Given the description of an element on the screen output the (x, y) to click on. 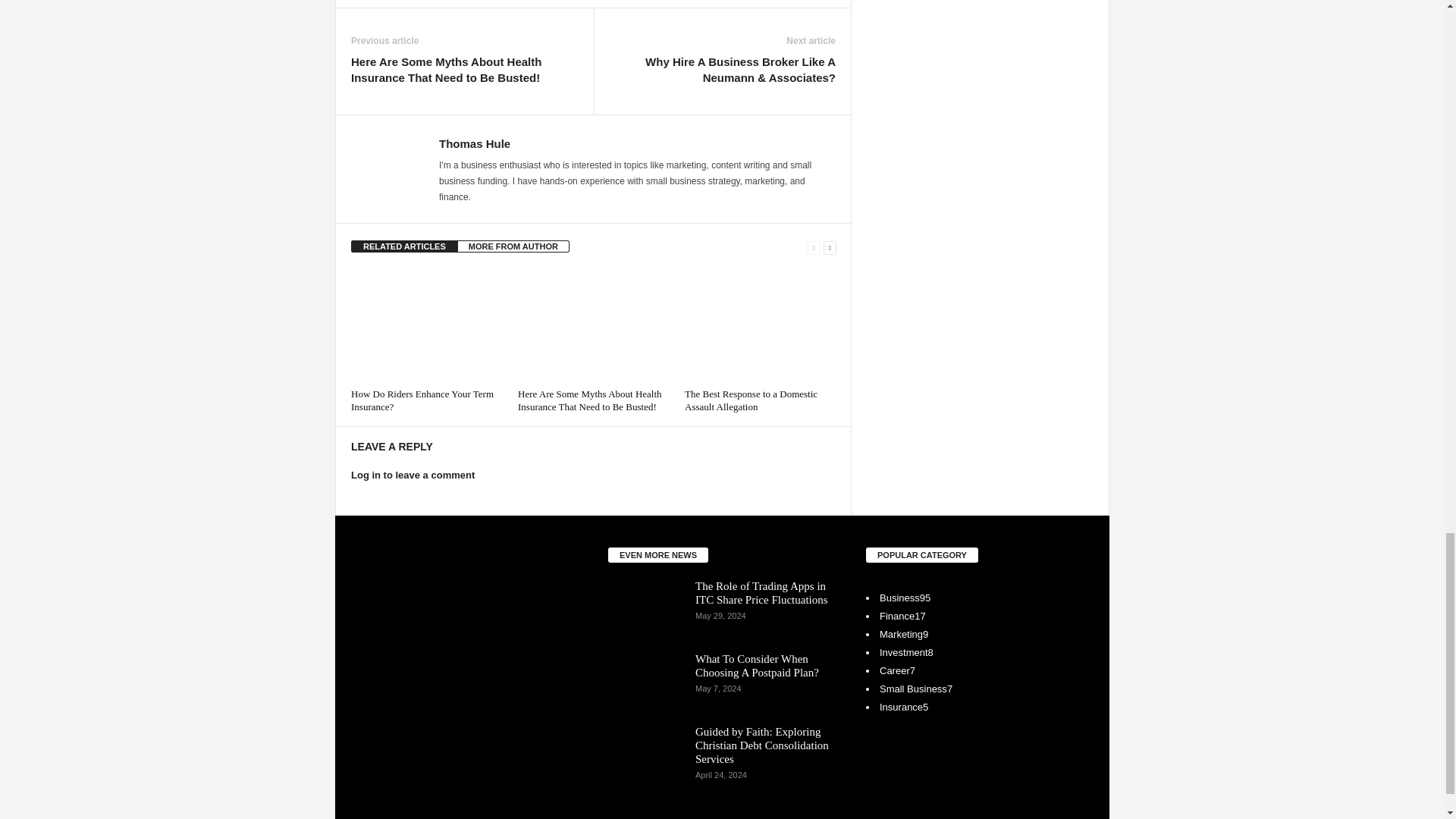
How Do Riders Enhance Your Term Insurance? (426, 326)
